Given the description of an element on the screen output the (x, y) to click on. 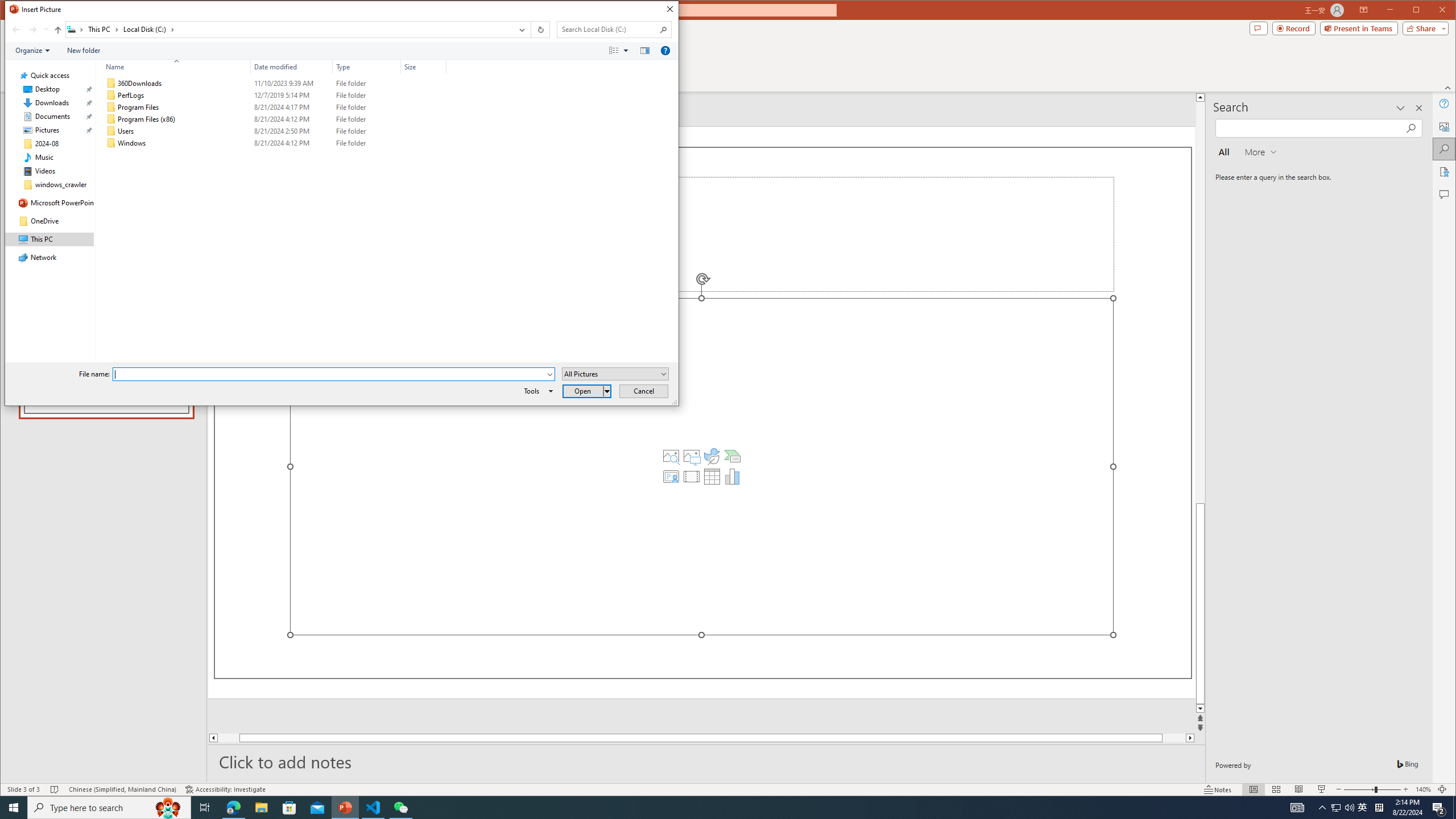
Program Files (273, 107)
Preview pane (644, 50)
Program Files (x86) (273, 119)
Size (423, 142)
Files of type: (615, 373)
Windows (273, 142)
Name (173, 66)
